Given the description of an element on the screen output the (x, y) to click on. 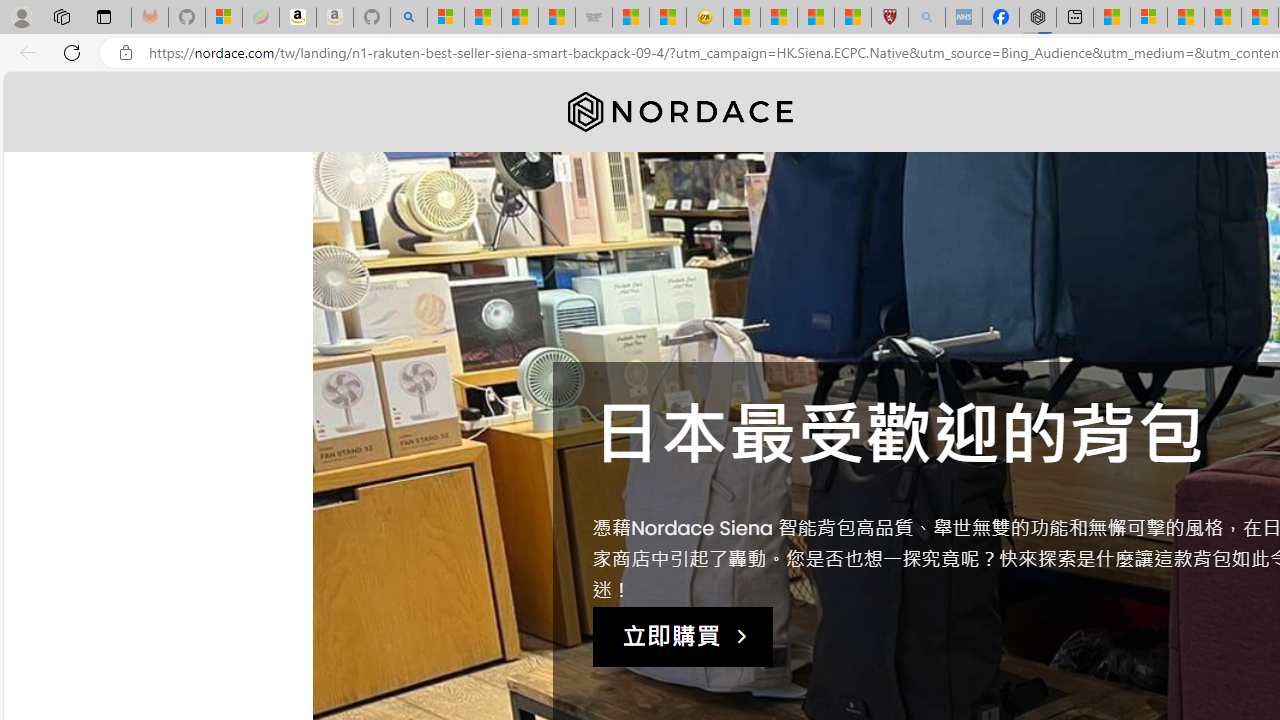
12 Popular Science Lies that Must be Corrected (852, 17)
Refresh (72, 52)
MSNBC - MSN (519, 17)
